Given the description of an element on the screen output the (x, y) to click on. 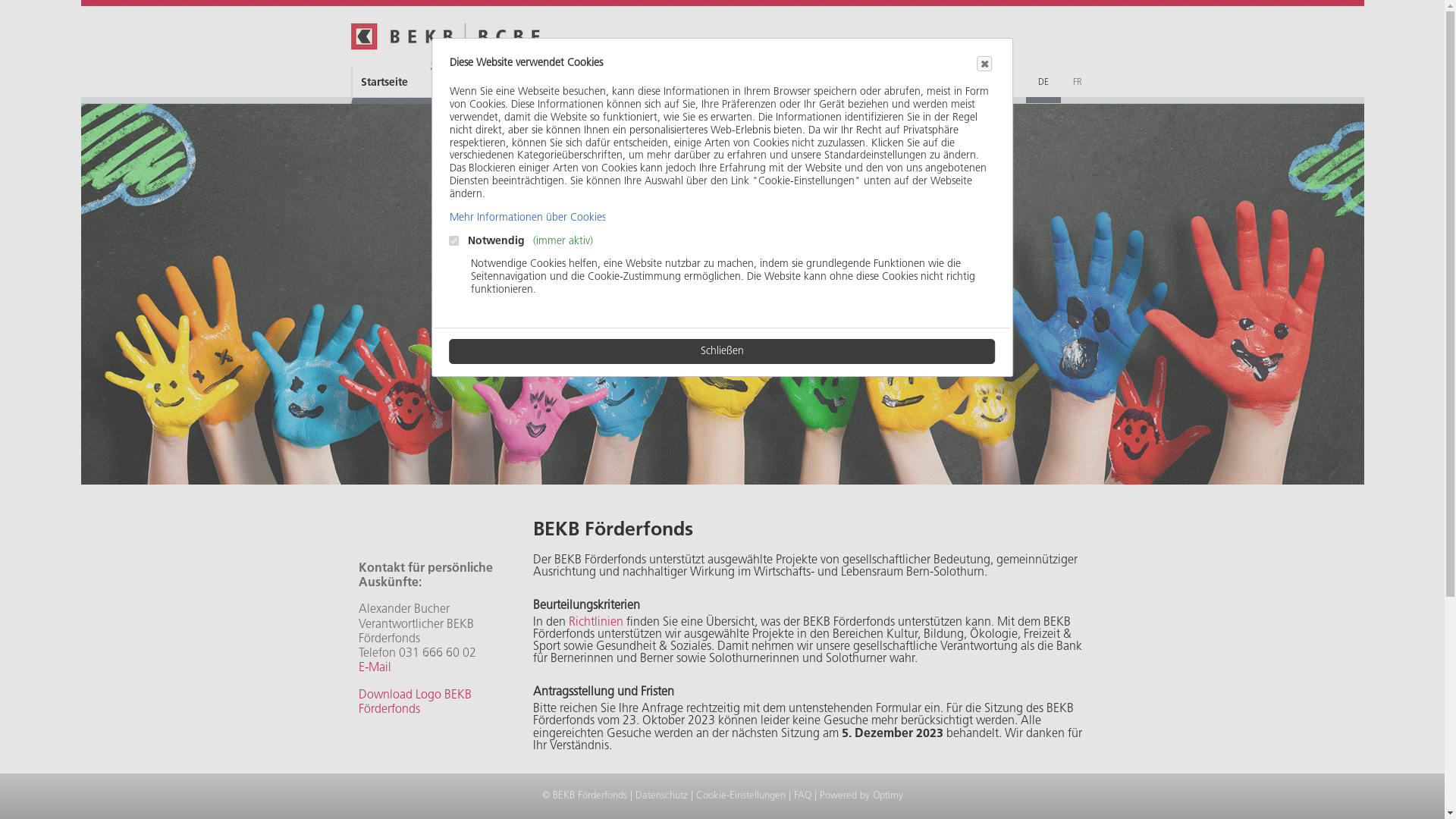
Close Element type: text (983, 63)
Richtlinien Element type: text (597, 621)
Mein Konto Element type: text (717, 82)
Startseite Element type: text (423, 85)
E-Mail Element type: text (373, 667)
Anfrage einreichen Element type: text (570, 82)
Cookie-Einstellungen Element type: text (740, 795)
Anfrage einreichen Element type: text (1027, 798)
FAQ Element type: text (801, 795)
FR Element type: text (1076, 82)
Datenschutz Element type: text (661, 795)
Optimy Element type: text (887, 795)
